Given the description of an element on the screen output the (x, y) to click on. 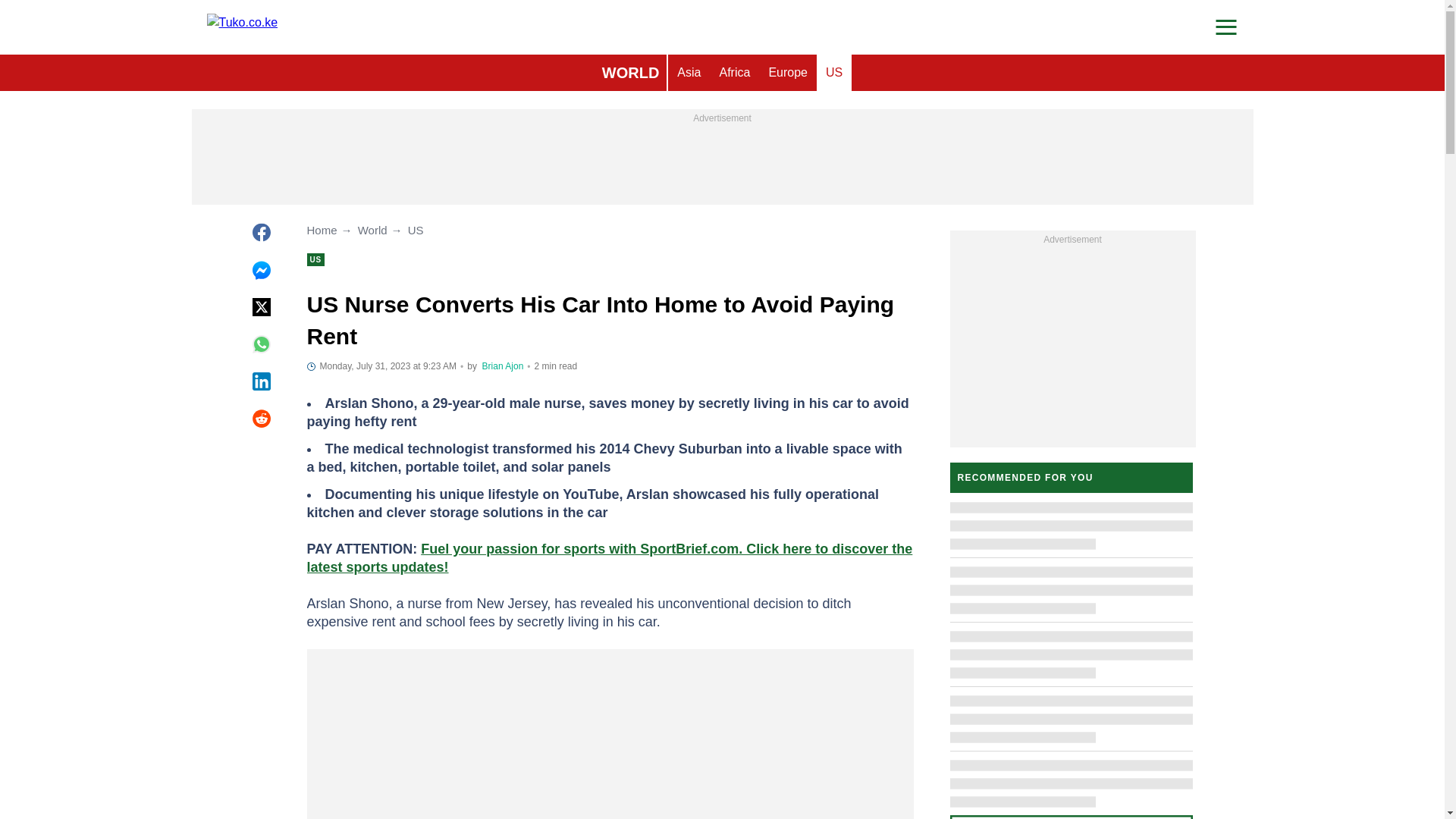
Africa (734, 72)
WORLD (630, 72)
US (833, 72)
Asia (689, 72)
Europe (787, 72)
Author page (502, 366)
